Given the description of an element on the screen output the (x, y) to click on. 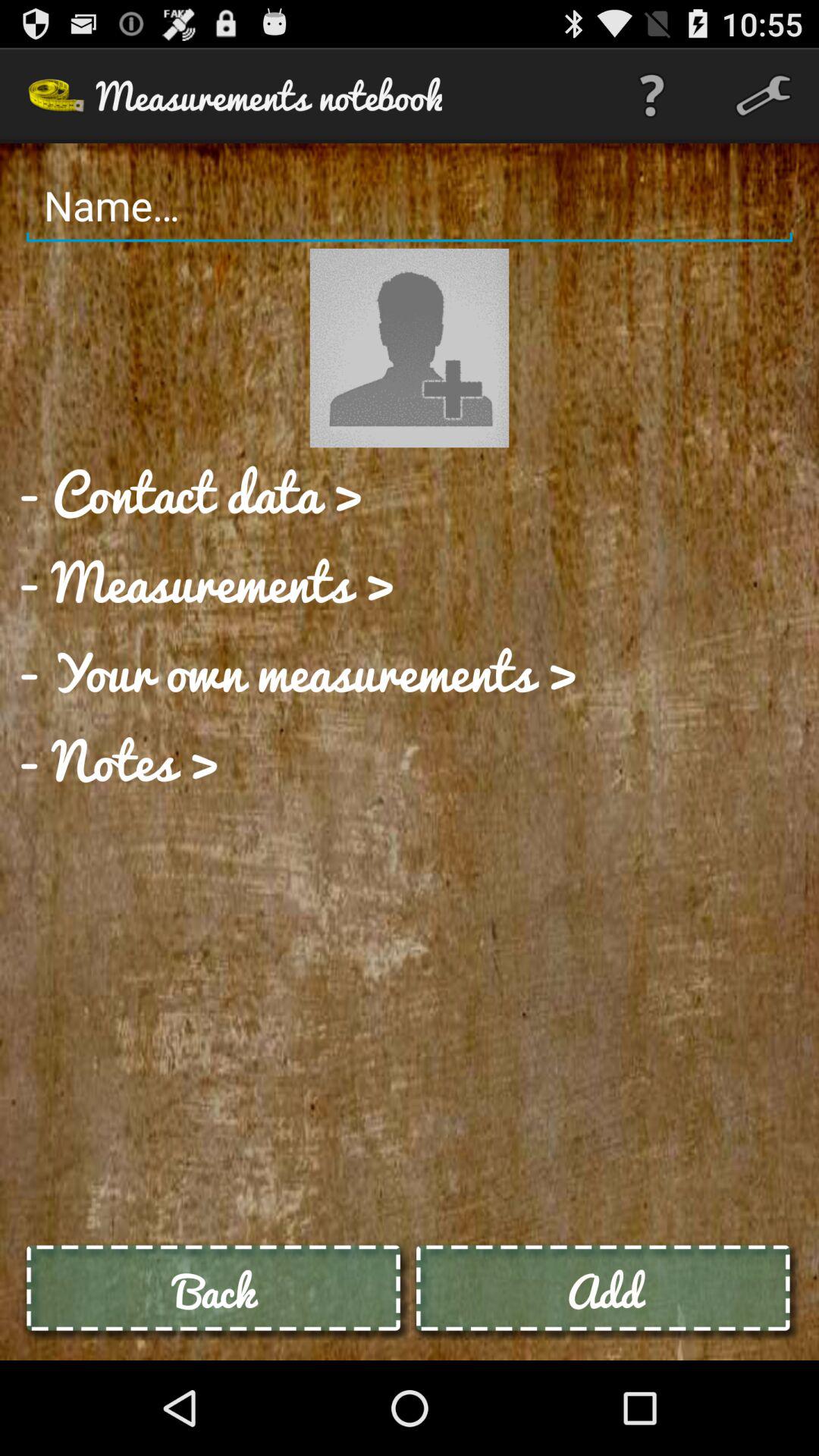
add profile image (409, 347)
